Given the description of an element on the screen output the (x, y) to click on. 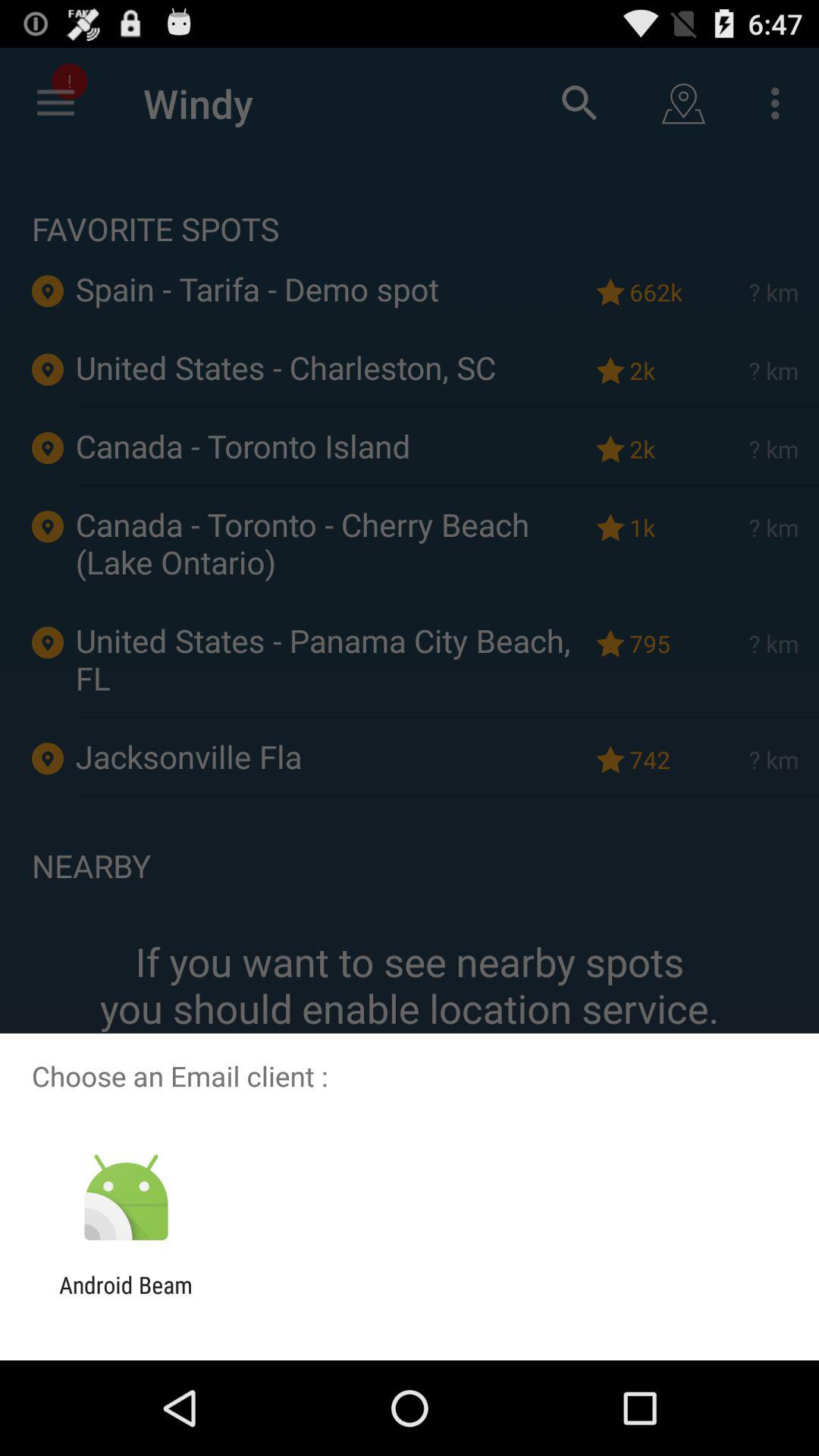
swipe to android beam icon (125, 1298)
